Given the description of an element on the screen output the (x, y) to click on. 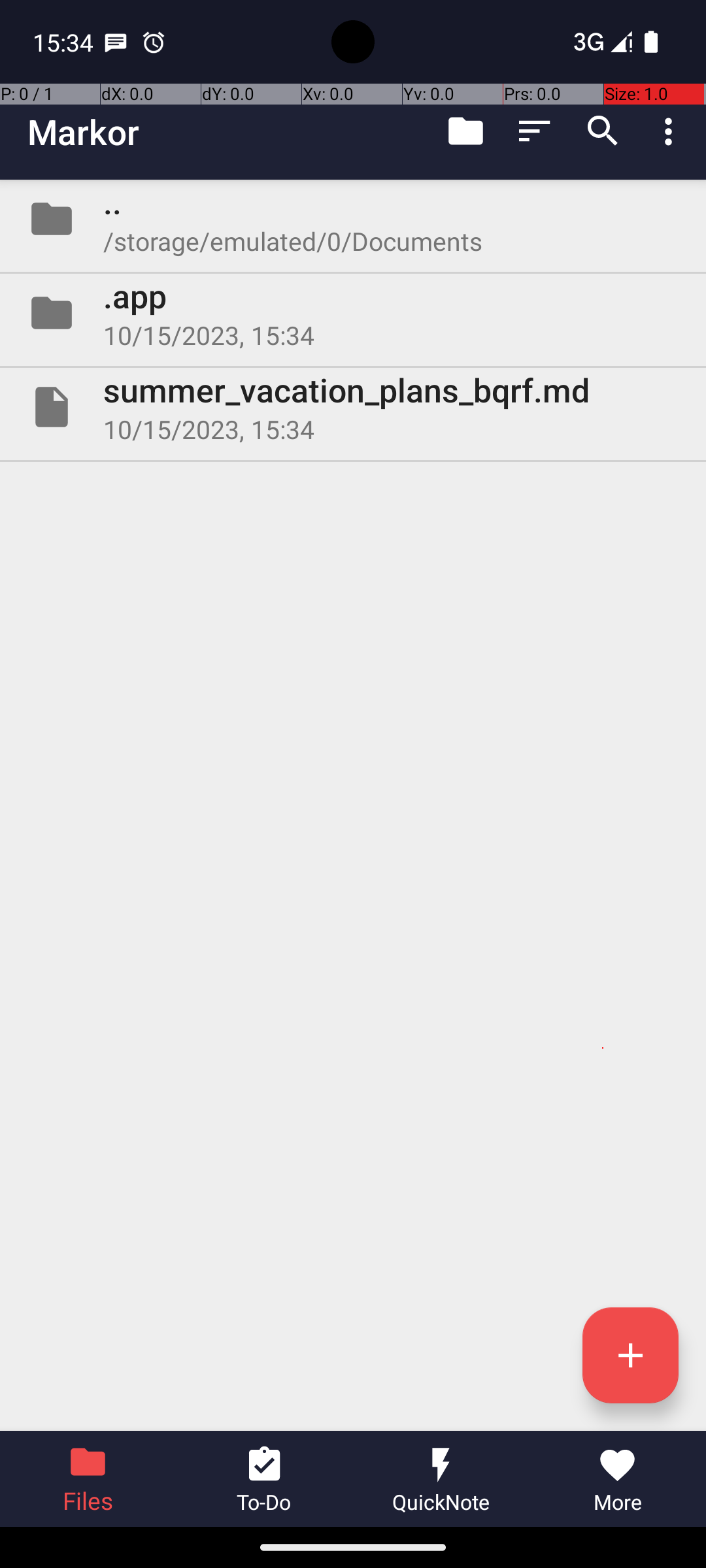
Folder .app  Element type: android.widget.LinearLayout (353, 312)
File summer_vacation_plans_bqrf.md  Element type: android.widget.LinearLayout (353, 406)
